Given the description of an element on the screen output the (x, y) to click on. 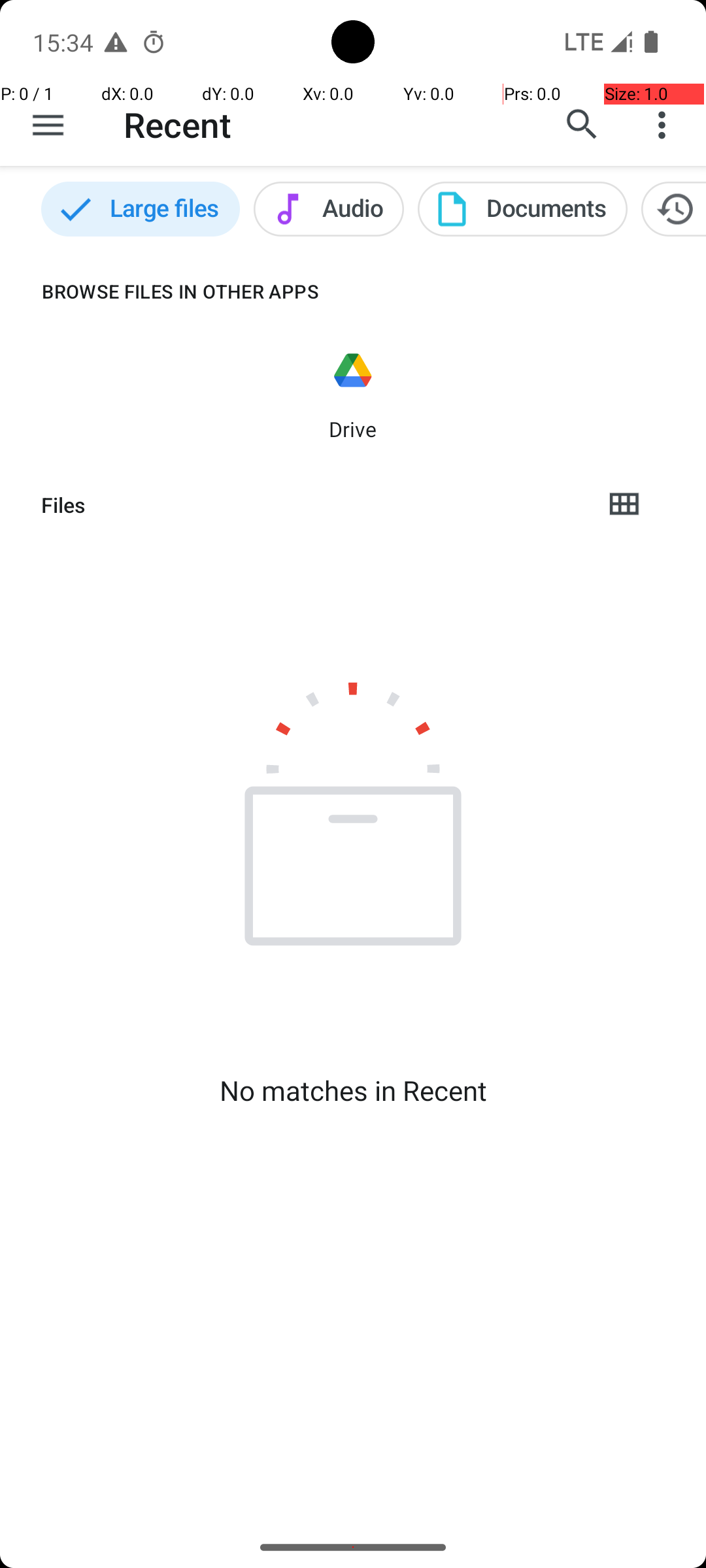
BROWSE FILES IN OTHER APPS Element type: android.widget.TextView (159, 291)
No matches in Recent Element type: android.widget.TextView (353, 1089)
Drive Element type: android.widget.TextView (352, 428)
